Given the description of an element on the screen output the (x, y) to click on. 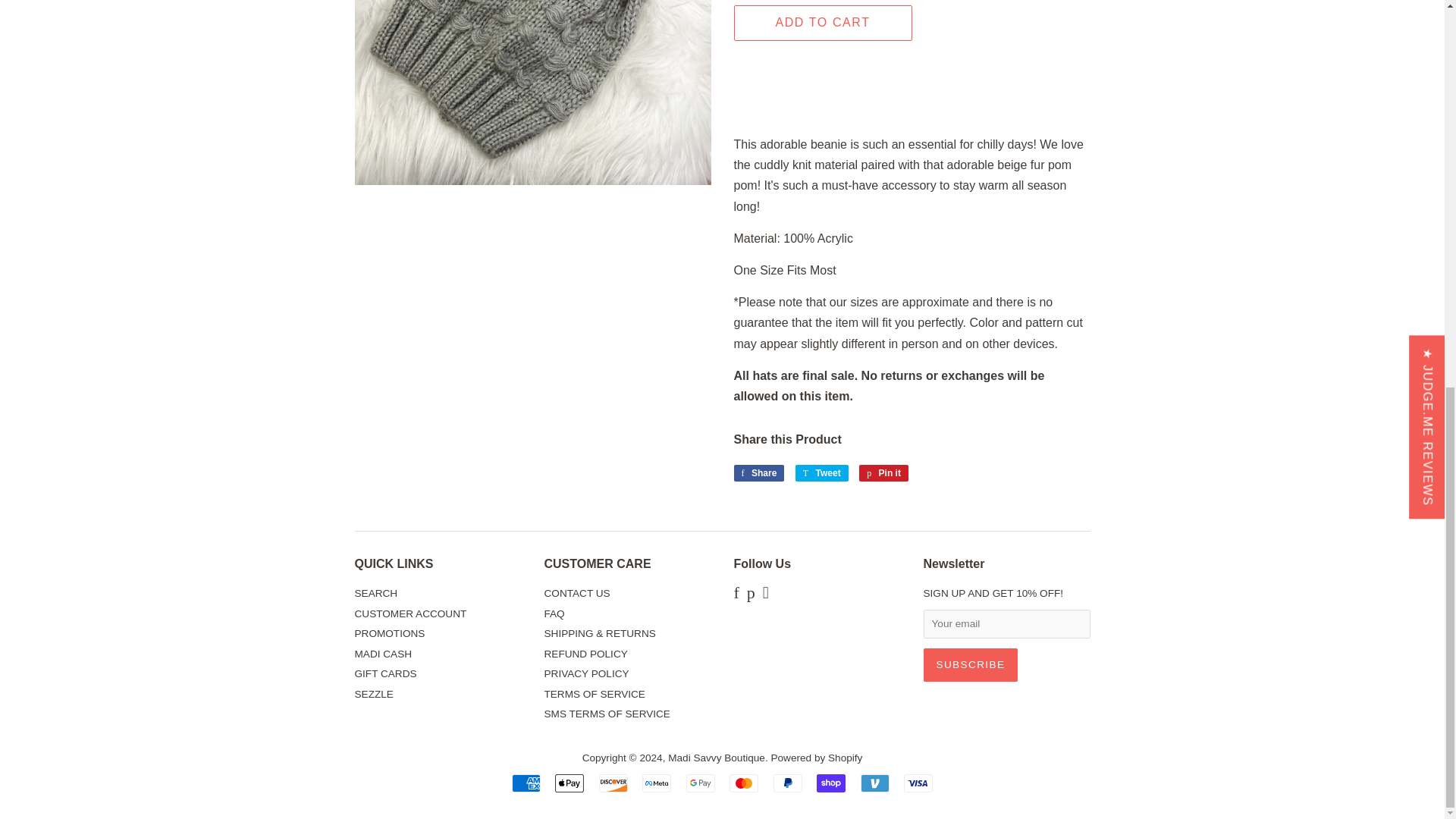
Subscribe (970, 664)
PayPal (787, 782)
Venmo (874, 782)
Discover (612, 782)
American Express (526, 782)
Visa (918, 782)
Apple Pay (568, 782)
Mastercard (743, 782)
Share on Facebook (758, 473)
Shop Pay (830, 782)
